Given the description of an element on the screen output the (x, y) to click on. 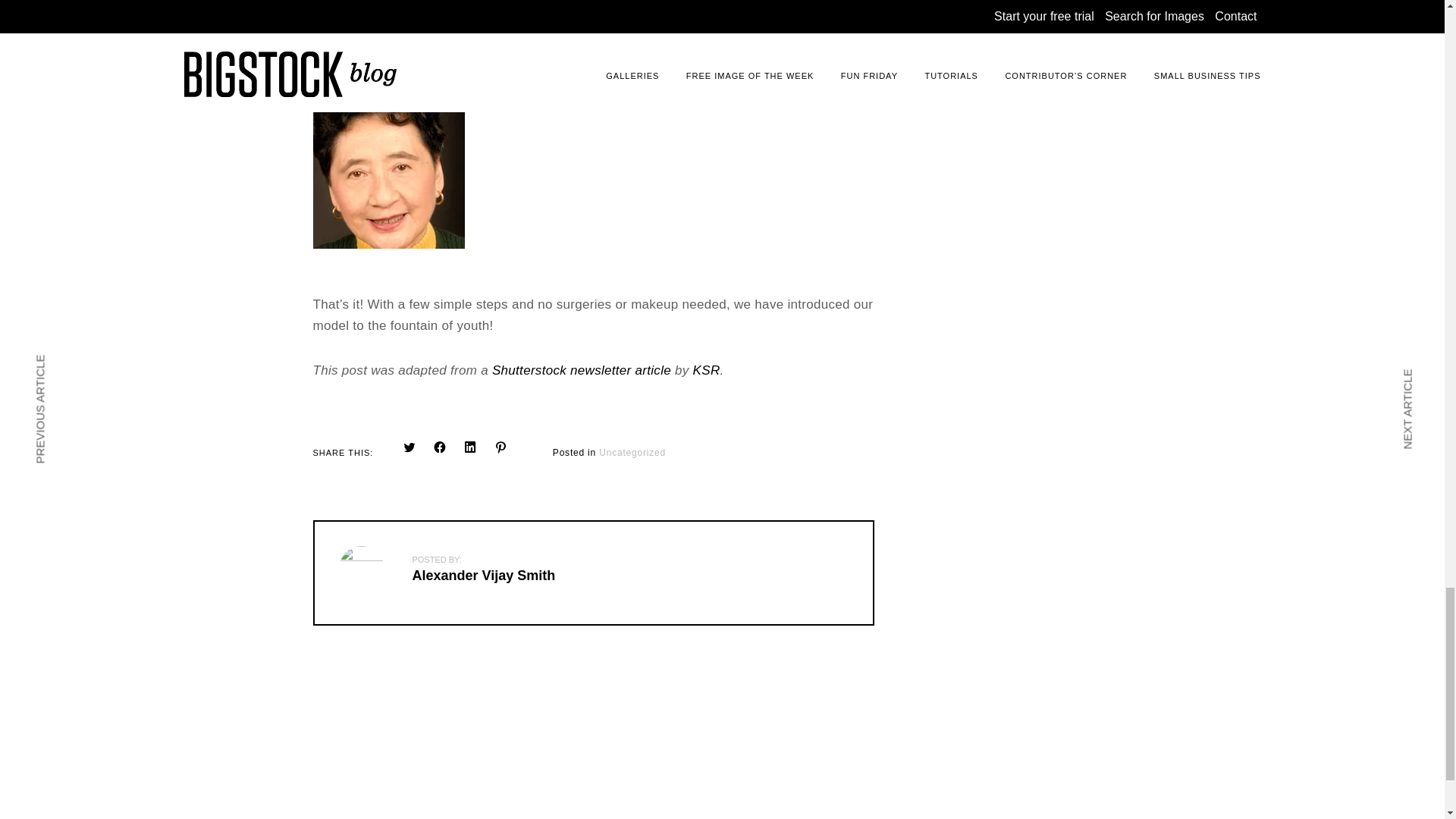
Click to share on Facebook (439, 446)
Uncategorized (631, 452)
KSR (706, 370)
Alexander Vijay Smith (484, 575)
Click to share on Twitter (409, 446)
Click to share on Pinterest (499, 446)
Posts by Alexander Vijay Smith (484, 575)
Click to share on LinkedIn (469, 447)
Shutterstock newsletter article (581, 370)
clonestamp08 (388, 172)
